Given the description of an element on the screen output the (x, y) to click on. 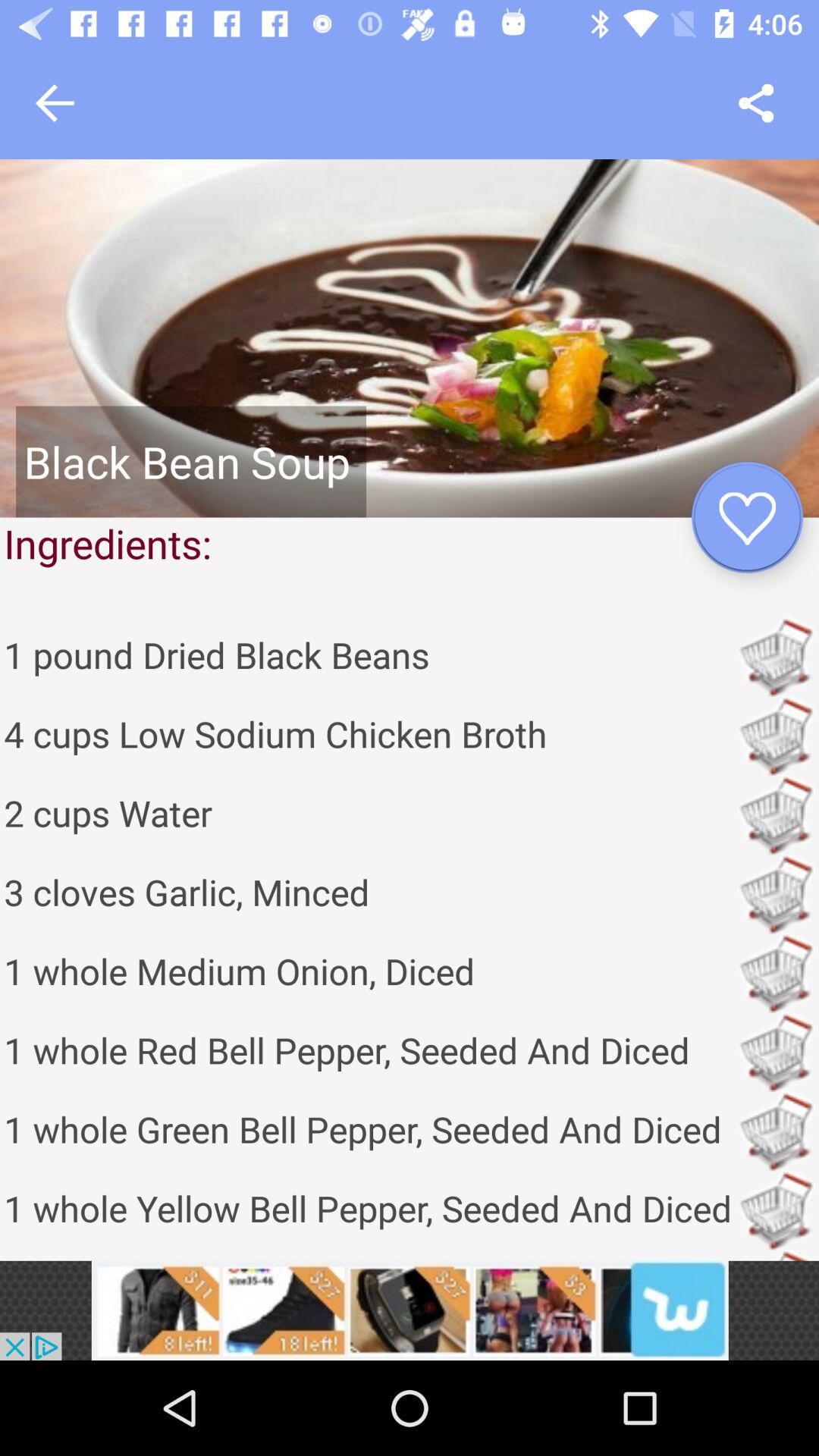
share this recipe (756, 103)
